Given the description of an element on the screen output the (x, y) to click on. 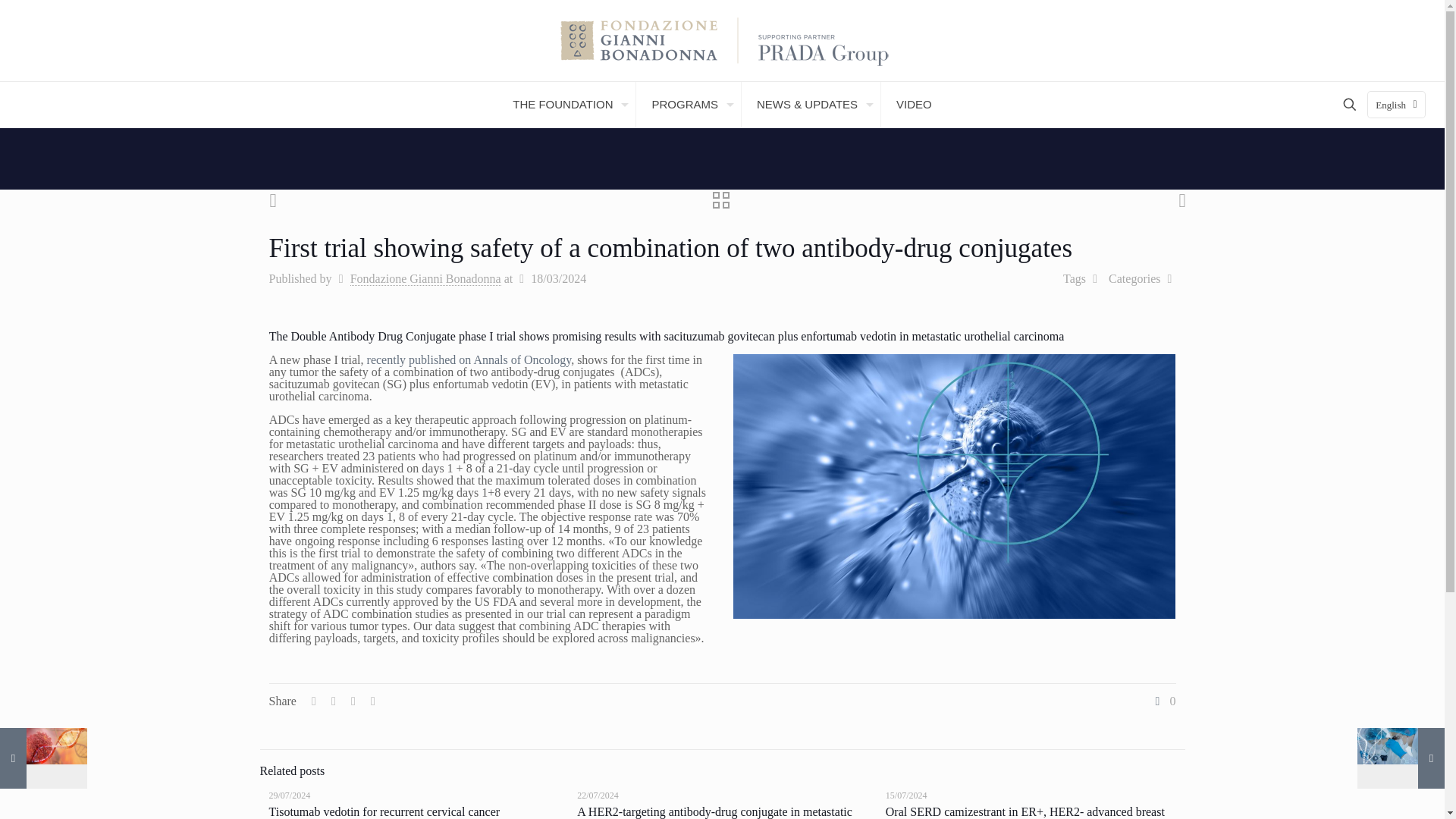
PROGRAMS (688, 104)
0 (1162, 701)
VIDEO (913, 104)
Tisotumab vedotin for recurrent cervical cancer (383, 811)
recently published on Annals of Oncology (469, 359)
English (1396, 103)
Fondazione Gianni Bonadonna (425, 278)
THE FOUNDATION (566, 104)
cancer cell (953, 486)
Fondazione Gianni Bonadonna (722, 40)
